Given the description of an element on the screen output the (x, y) to click on. 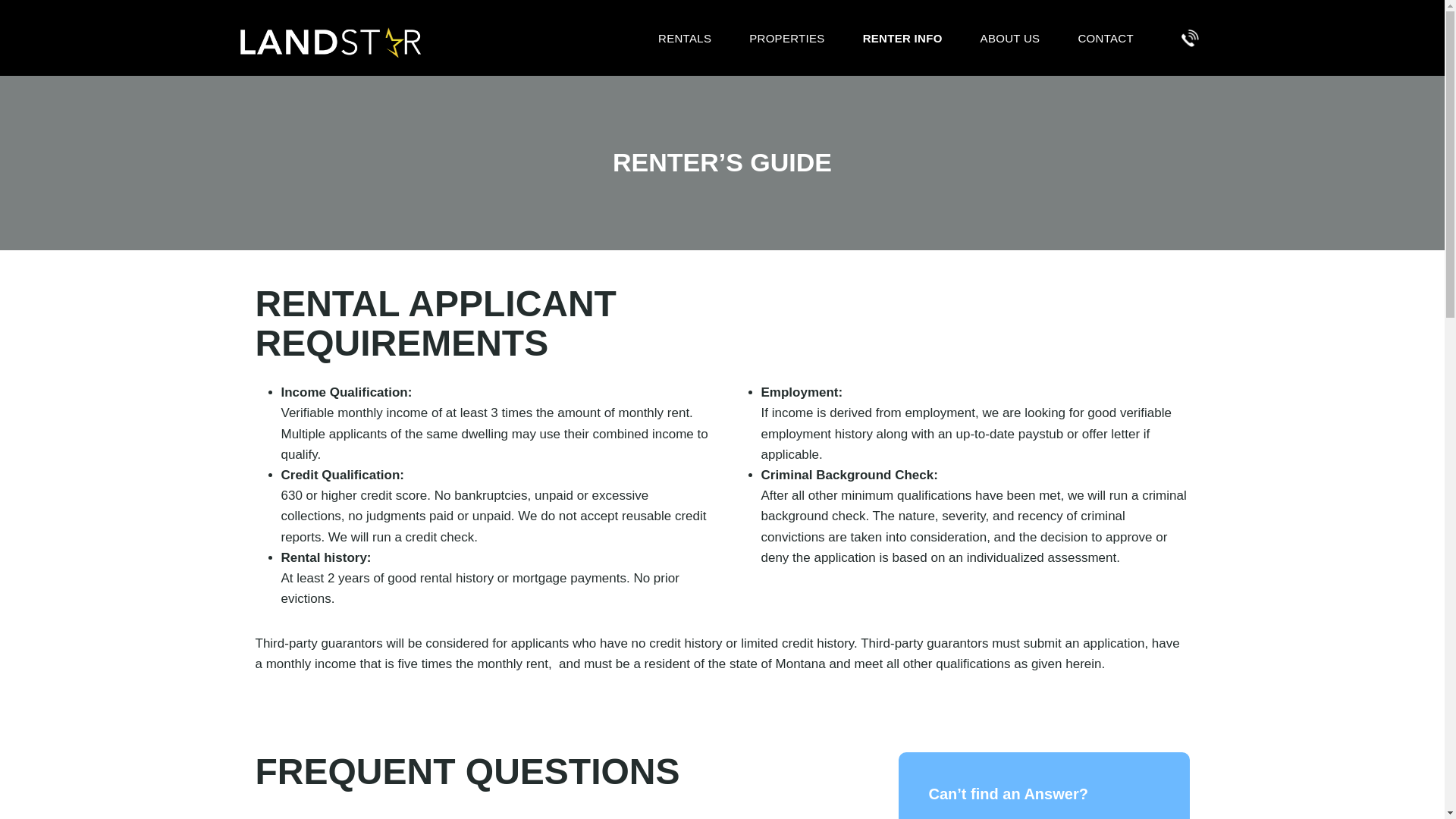
CONTACT (1104, 37)
RENTER INFO (902, 37)
RENTALS (684, 37)
Are pets accepted? (545, 814)
PROPERTIES (786, 37)
ABOUT US (1009, 37)
